Given the description of an element on the screen output the (x, y) to click on. 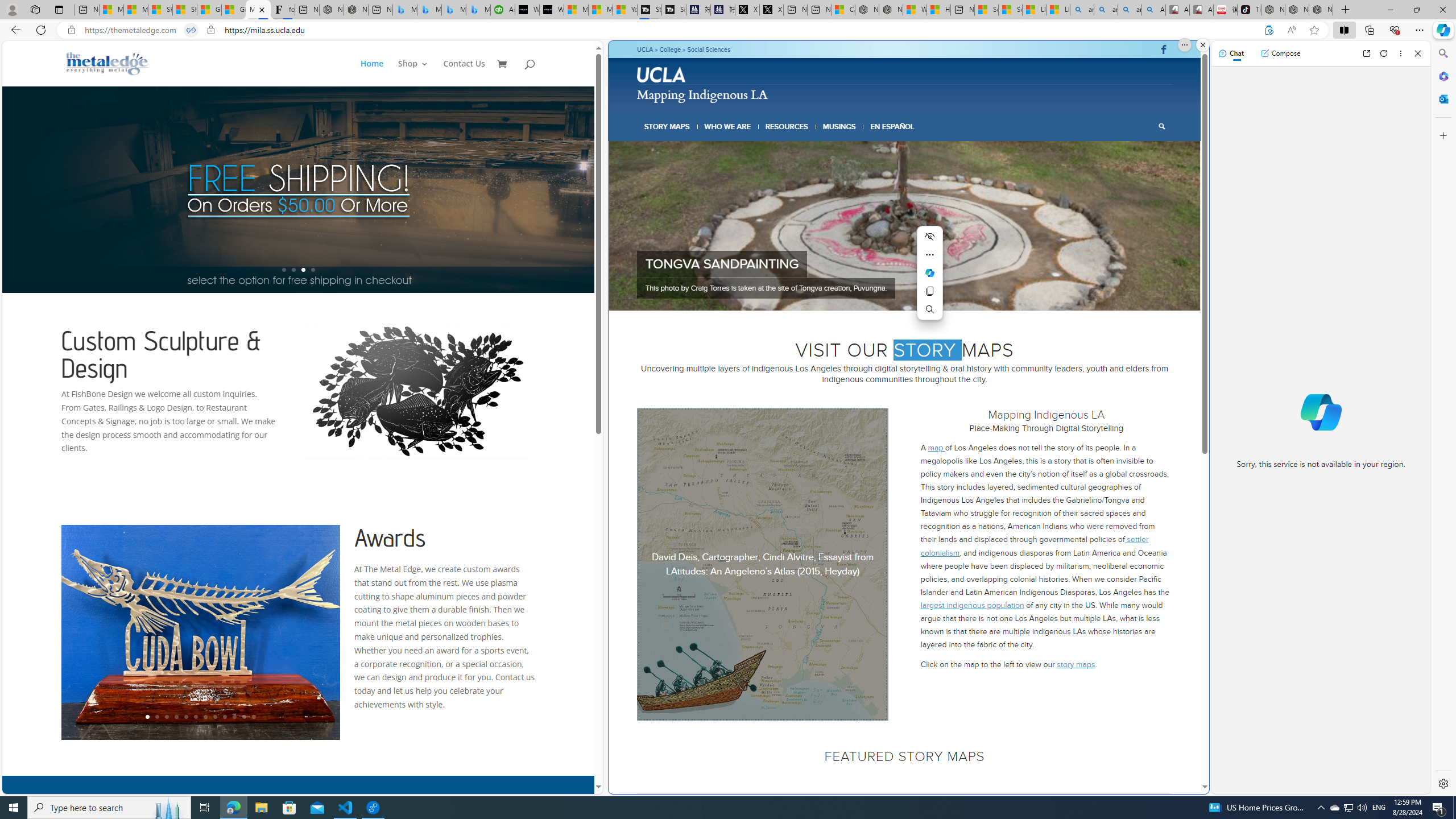
WHO WE ARE (727, 126)
Nordace - Summer Adventures 2024 (890, 9)
UCLA logo (662, 76)
Shop 3 (413, 72)
Close split screen. (1202, 45)
Add this page to favorites (Ctrl+D) (1314, 29)
1 (871, 296)
STORY MAPS (667, 126)
Metal Fish Sculptures & Metal Designs (106, 63)
Microsoft Start (600, 9)
Refresh (1383, 53)
8 (935, 296)
Tabs in split screen (190, 29)
